Given the description of an element on the screen output the (x, y) to click on. 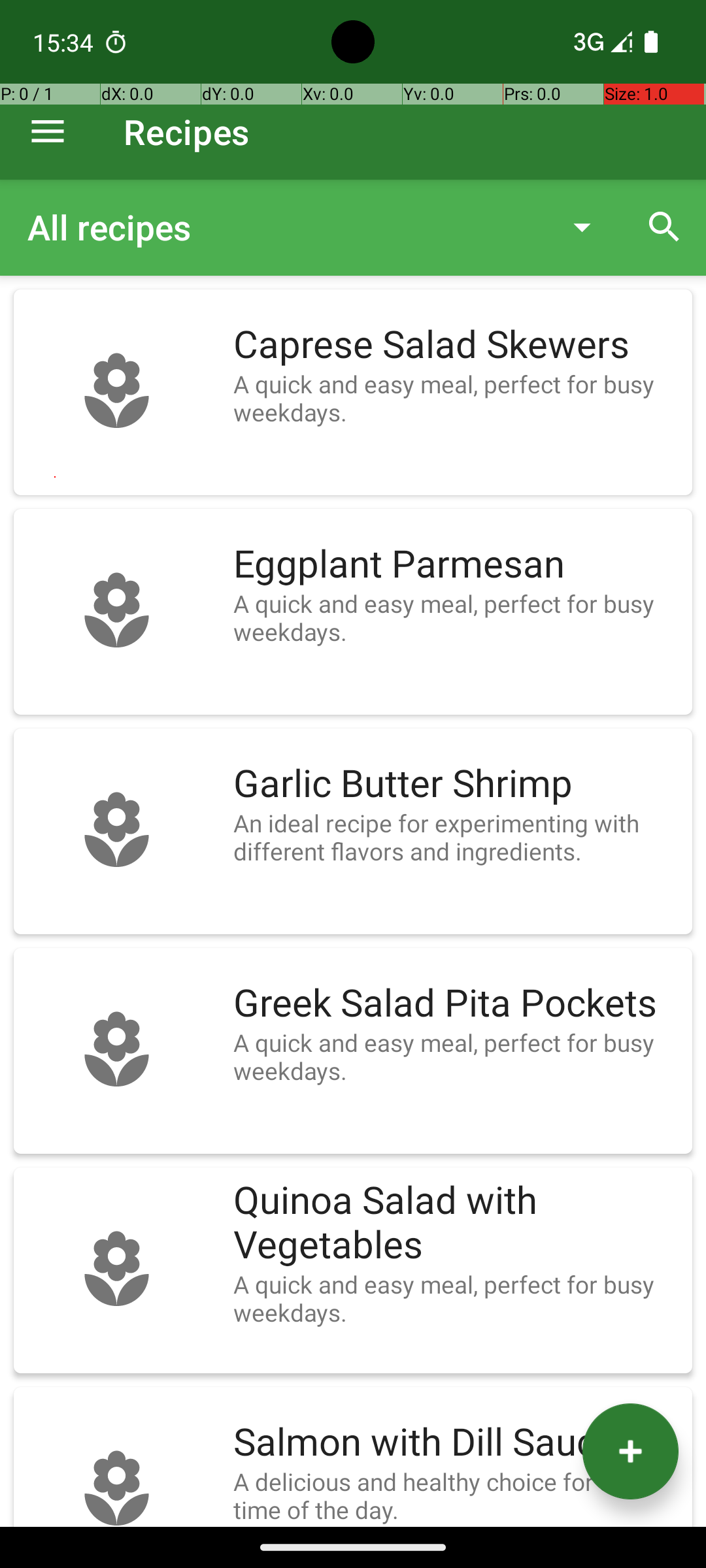
Salmon with Dill Sauce Element type: android.widget.TextView (455, 1442)
